Given the description of an element on the screen output the (x, y) to click on. 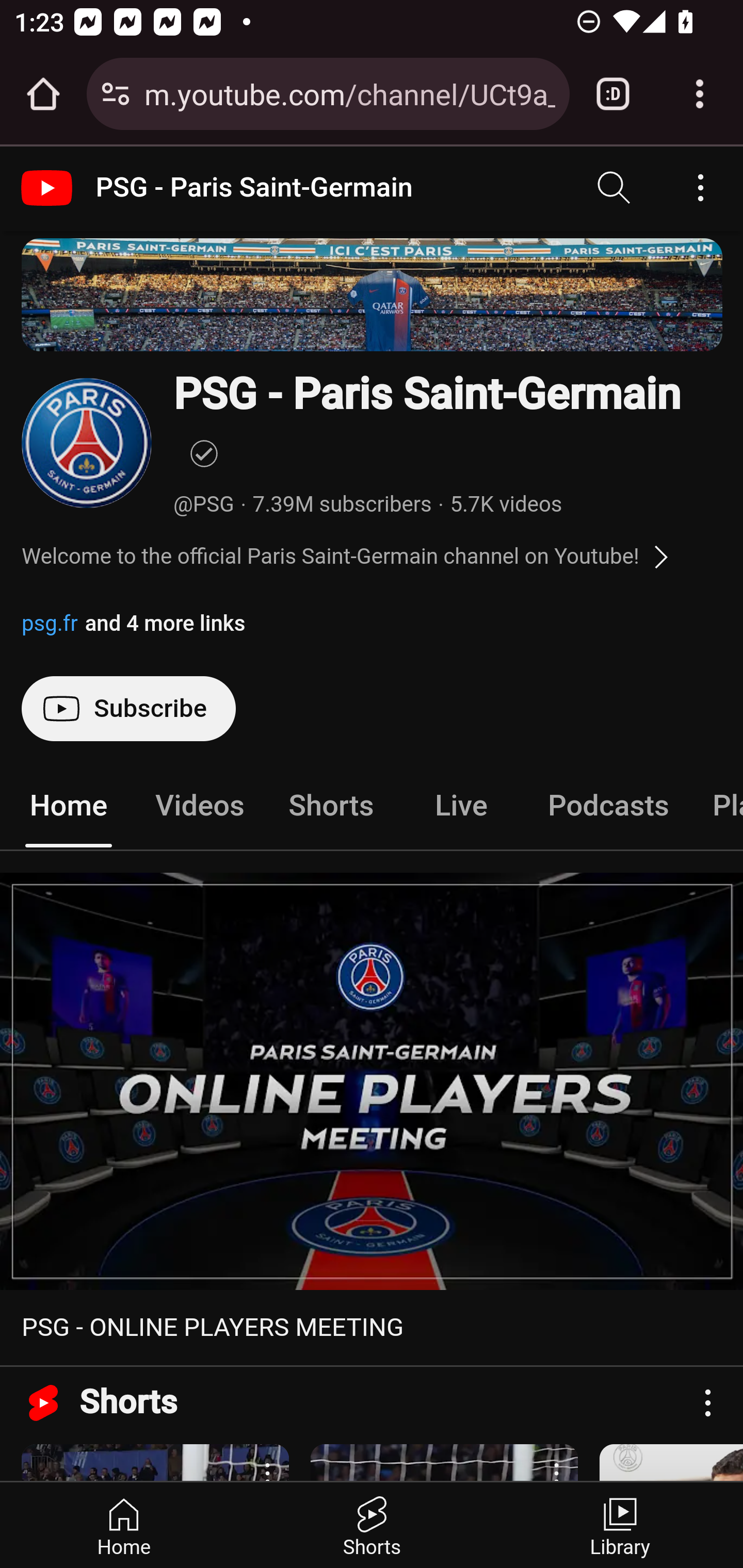
Open the home page (43, 93)
Connection is secure (115, 93)
Switch or close tabs (612, 93)
Customize and control Google Chrome (699, 93)
m.youtube.com/channel/UCt9a_qP9CqHCNwilf-iULag (349, 92)
YouTube (48, 188)
Search YouTube (614, 188)
Account (700, 188)
psg.fr (50, 622)
and 4 more links (164, 622)
Subscribe (128, 708)
Home (69, 805)
Videos (200, 805)
Shorts (330, 805)
Live (460, 805)
Podcasts (607, 805)
More actions (707, 1402)
Home (124, 1524)
Shorts (371, 1524)
Library (618, 1524)
